Given the description of an element on the screen output the (x, y) to click on. 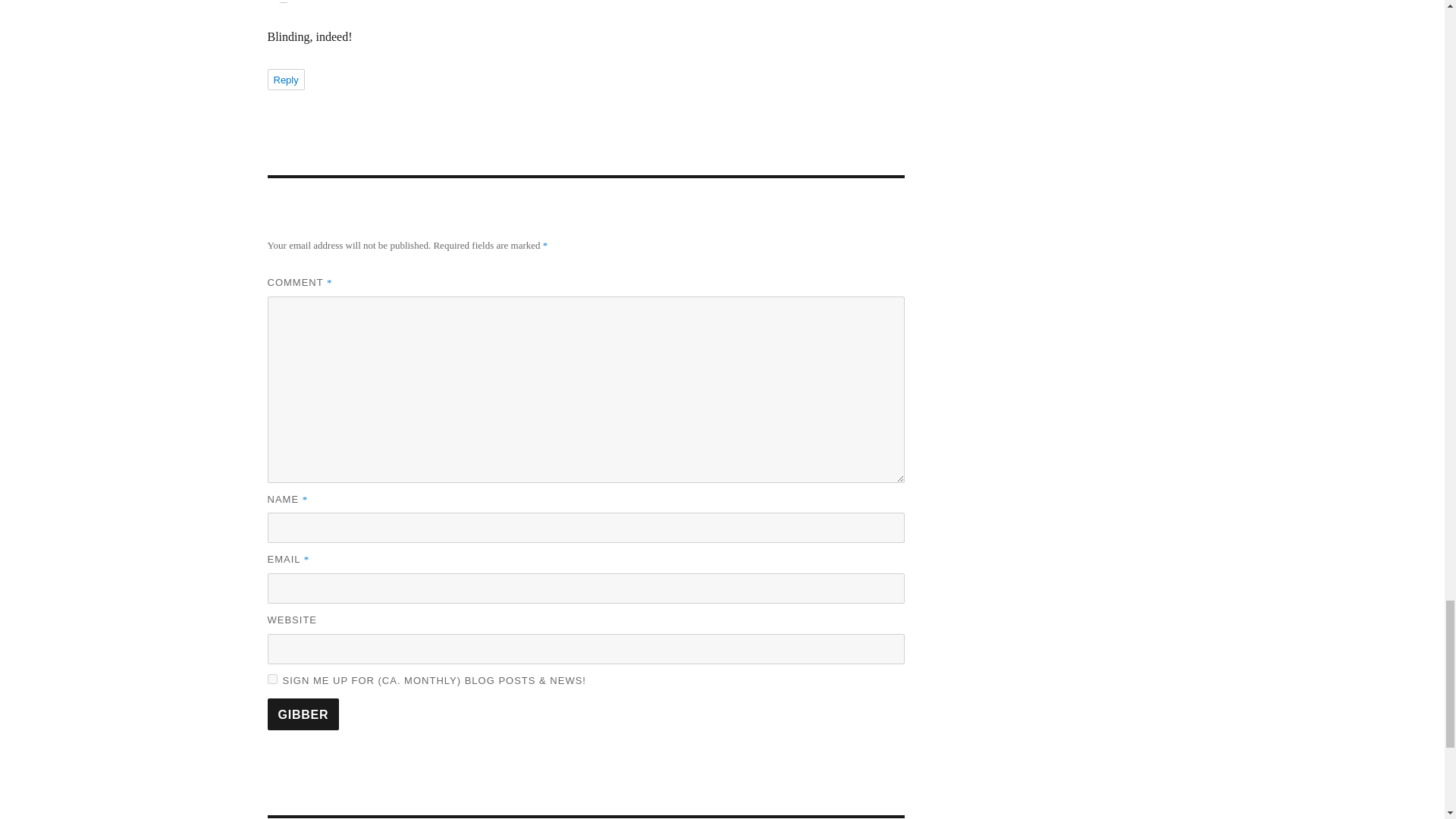
Gibber (302, 714)
1 (271, 678)
